Given the description of an element on the screen output the (x, y) to click on. 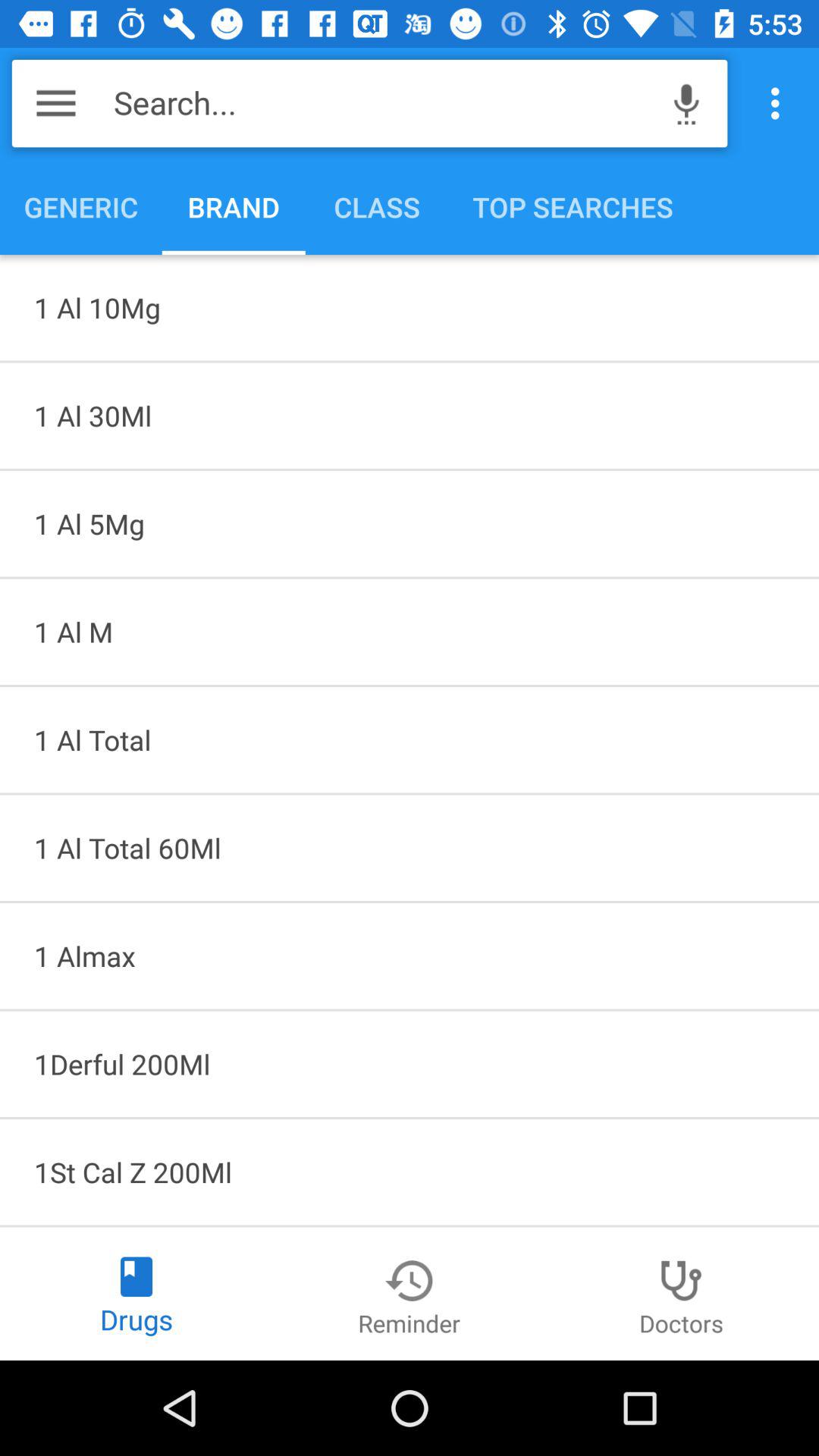
turn off the icon above the top searches icon (686, 103)
